Given the description of an element on the screen output the (x, y) to click on. 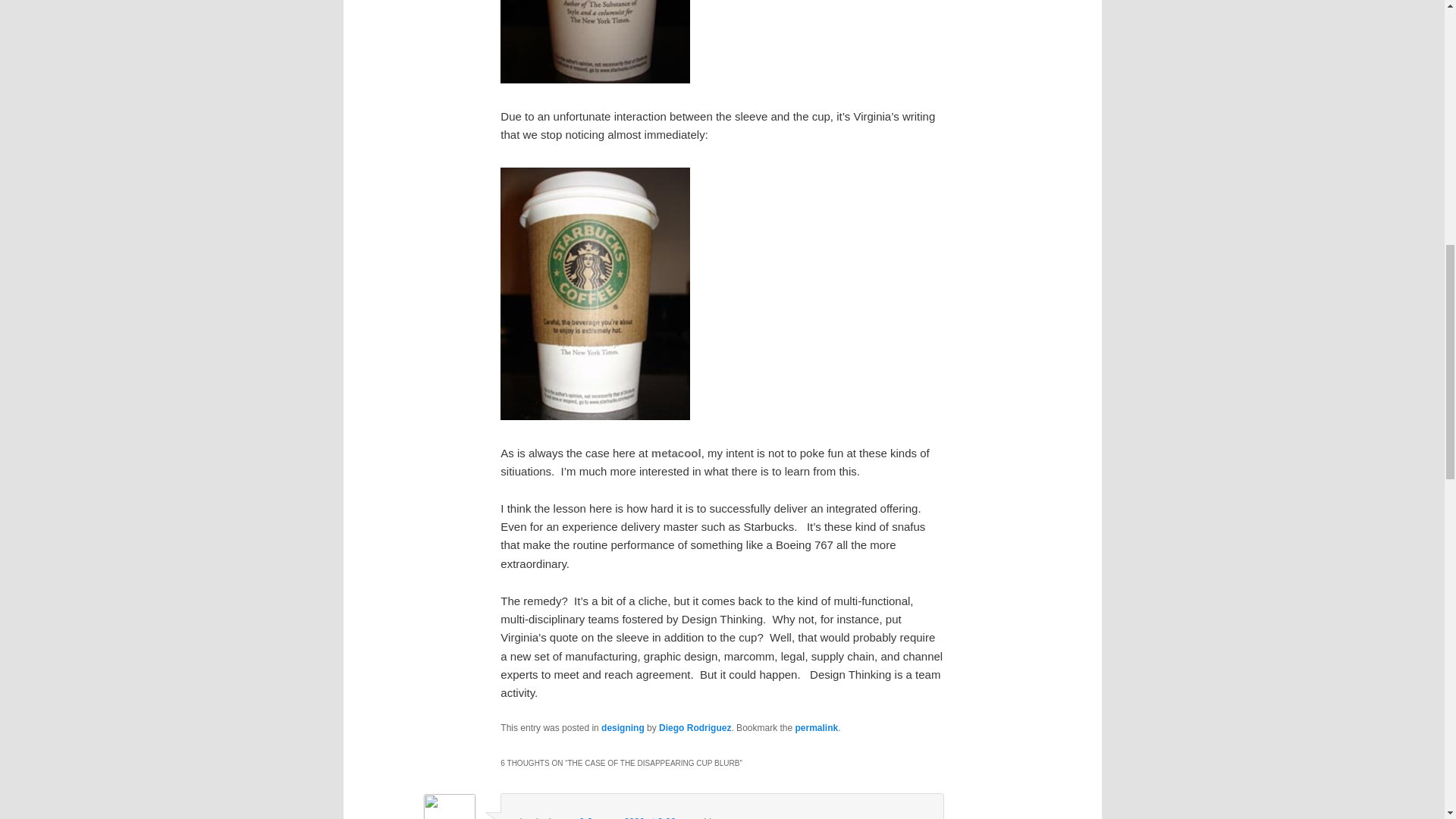
6 January 2006 at 2:36 pm (636, 817)
Cupquote11 (595, 41)
Permalink to The case of the disappearing cup blurb (816, 727)
Cupcover2 (595, 293)
designing (623, 727)
Diego Rodriguez (694, 727)
permalink (816, 727)
